Given the description of an element on the screen output the (x, y) to click on. 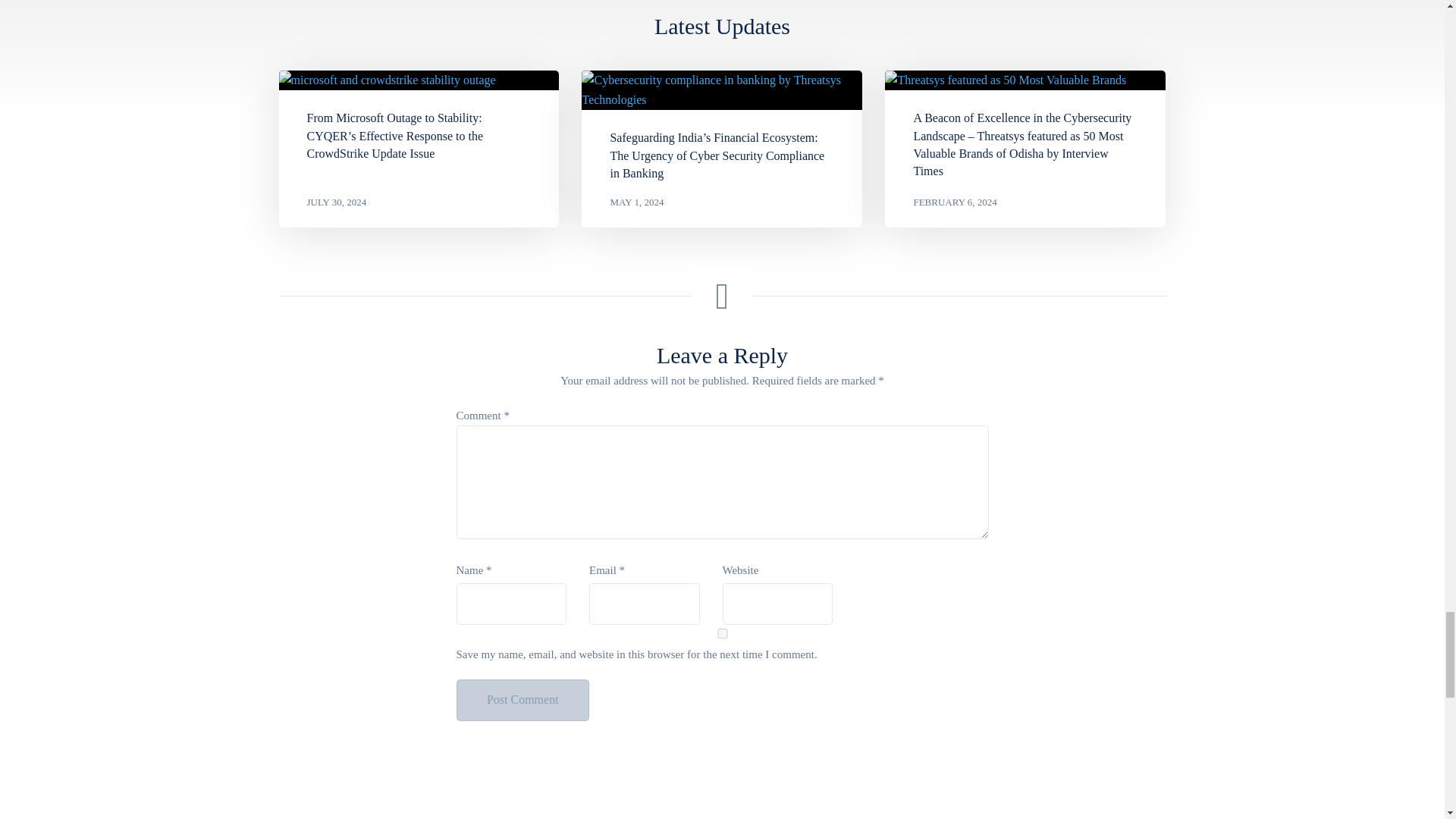
TS-24-02-bb-01-50-most-valuable-brand (1005, 80)
TS-24-07-bb-Microsoft-outage (387, 80)
yes (722, 633)
TS-24-04-bb-01-cyber-security-banking (720, 89)
Post Comment (523, 700)
